Given the description of an element on the screen output the (x, y) to click on. 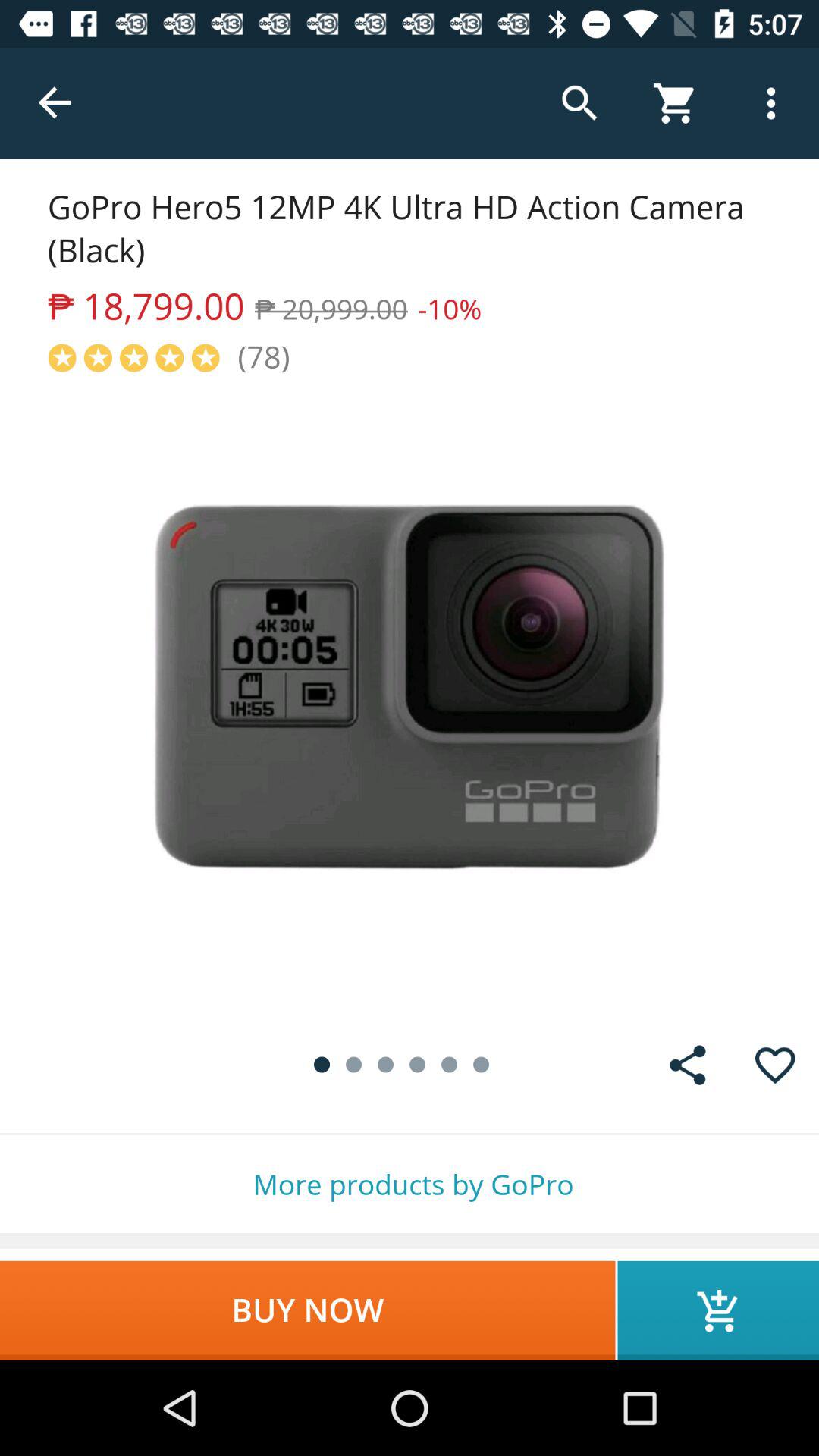
put the product into your favourites (775, 1065)
